Given the description of an element on the screen output the (x, y) to click on. 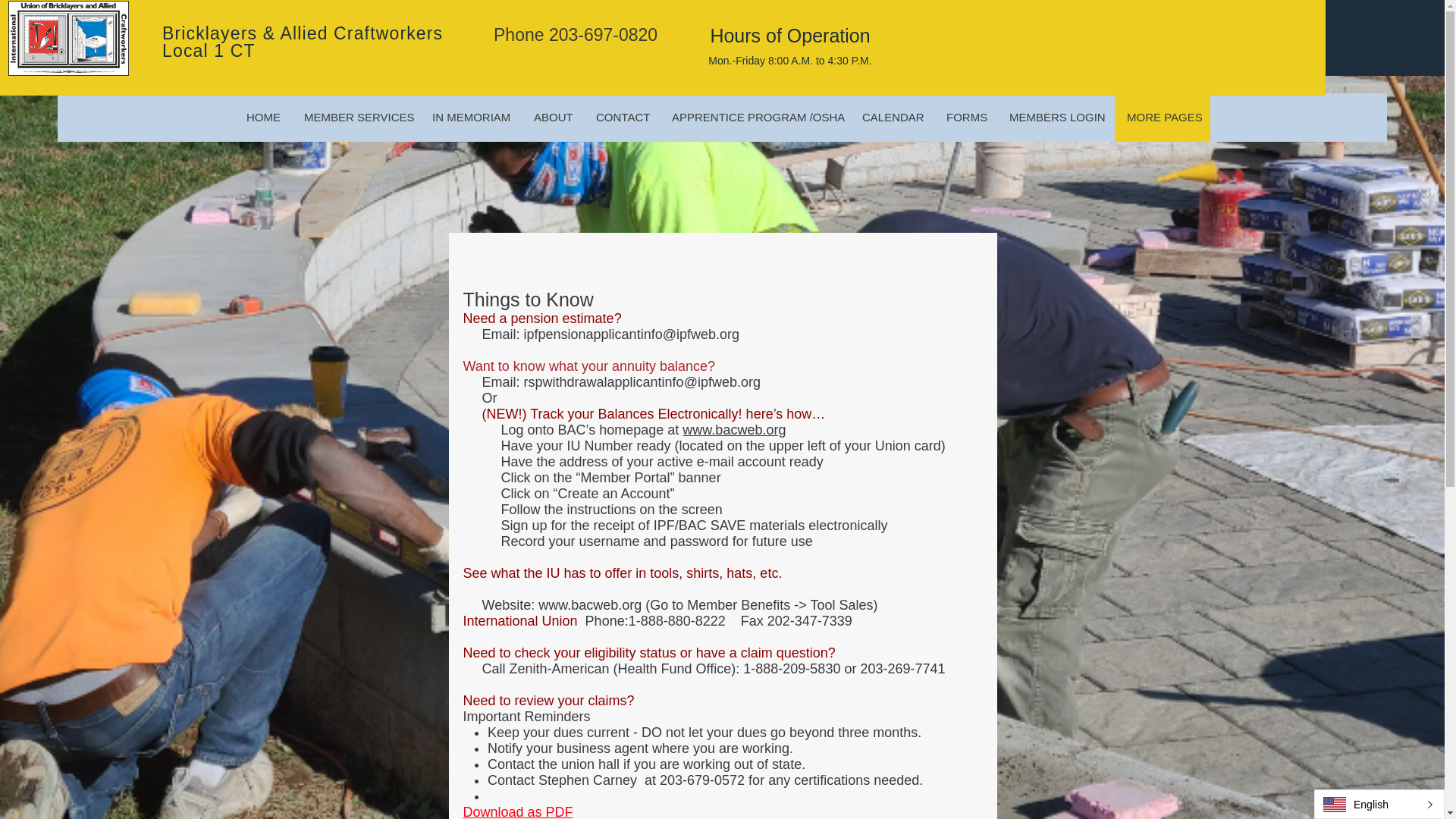
www.bacweb.org (734, 429)
MEMBERS LOGIN (1056, 117)
MORE PAGES (1162, 117)
CONTACT (621, 117)
CALENDAR (892, 117)
ABOUT (552, 117)
MEMBER SERVICES (356, 117)
FORMS (965, 117)
www.bacweb.org (590, 604)
IN MEMORIAM (470, 117)
HOME (263, 117)
Download as PDF (517, 811)
Local 1 CT (208, 50)
